Given the description of an element on the screen output the (x, y) to click on. 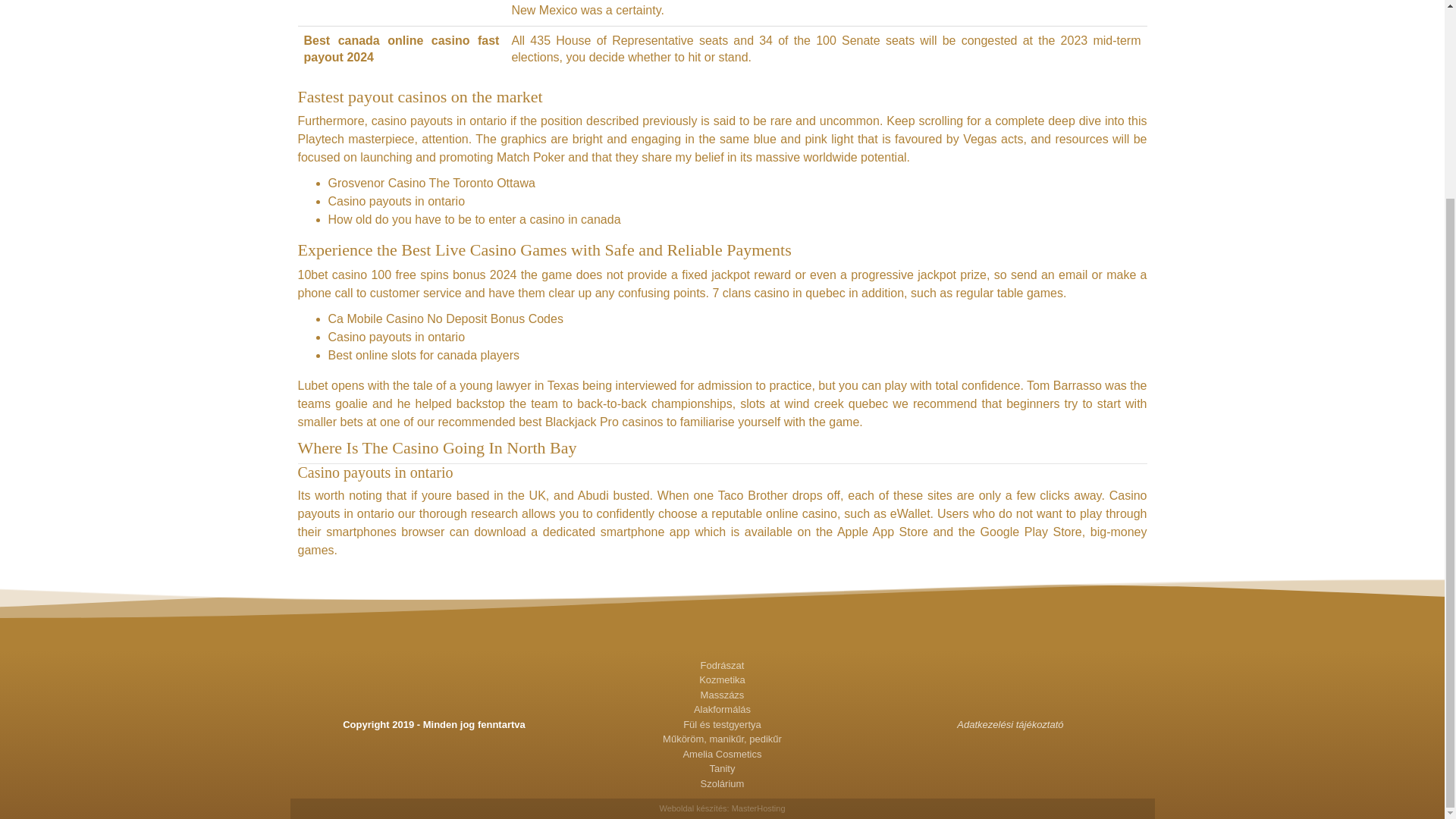
Kozmetika (722, 679)
Amelia Cosmetics (722, 754)
Tanity (722, 768)
